Given the description of an element on the screen output the (x, y) to click on. 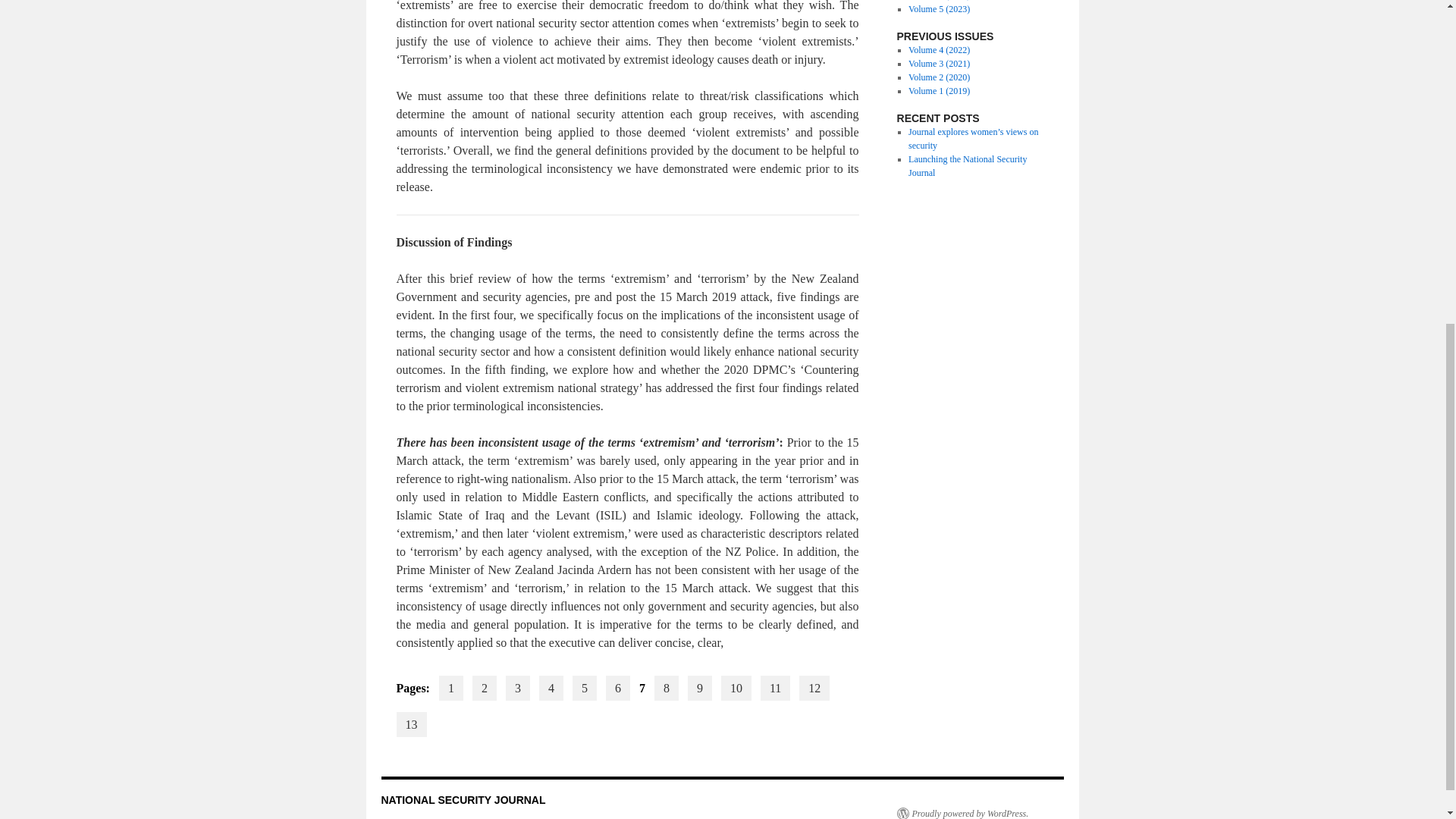
10 (735, 688)
9 (699, 688)
5 (584, 688)
6 (617, 688)
13 (411, 724)
Launching the National Security Journal (967, 165)
3 (517, 688)
11 (775, 688)
2 (483, 688)
8 (665, 688)
